Given the description of an element on the screen output the (x, y) to click on. 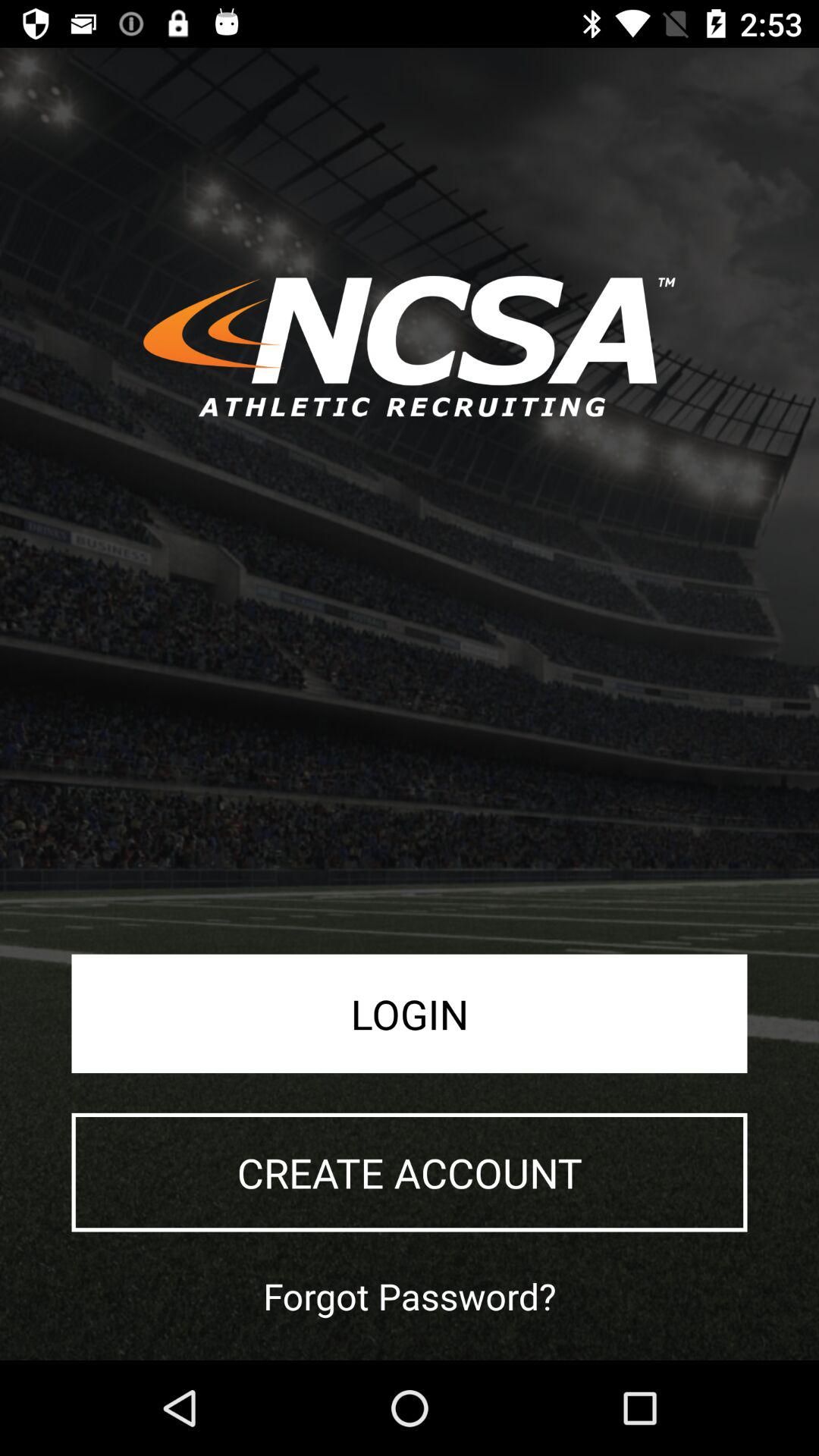
launch icon above forgot password? app (409, 1172)
